Given the description of an element on the screen output the (x, y) to click on. 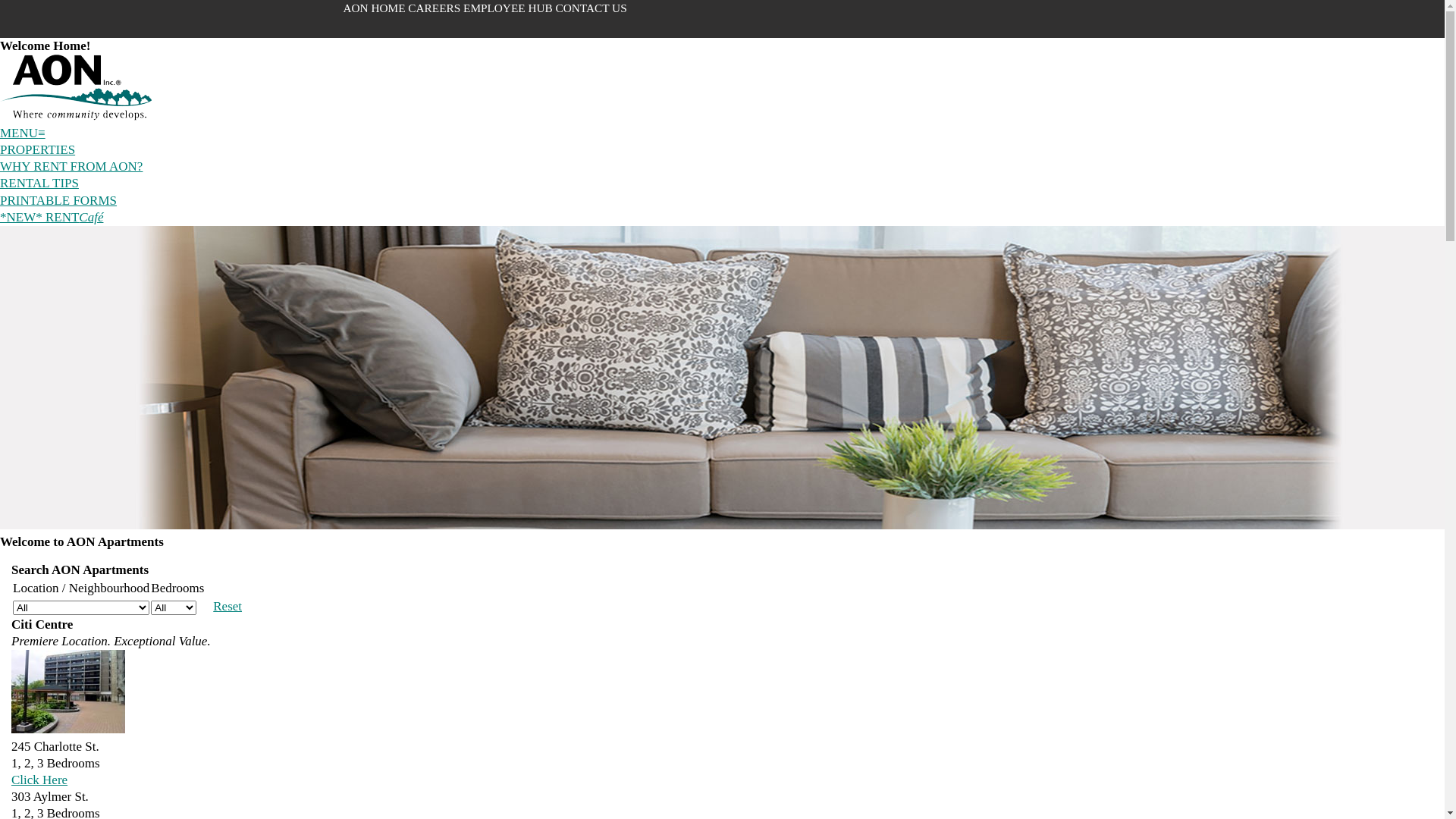
Reset Element type: text (227, 606)
Return Home Element type: hover (76, 116)
AON HOME Element type: text (374, 7)
EMPLOYEE HUB Element type: text (509, 7)
PRINTABLE FORMS Element type: text (58, 200)
Click Here Element type: text (39, 779)
CAREERS Element type: text (435, 7)
PROPERTIES Element type: text (37, 149)
CONTACT US Element type: text (591, 7)
RENTAL TIPS Element type: text (39, 182)
WHY RENT FROM AON? Element type: text (71, 166)
